Given the description of an element on the screen output the (x, y) to click on. 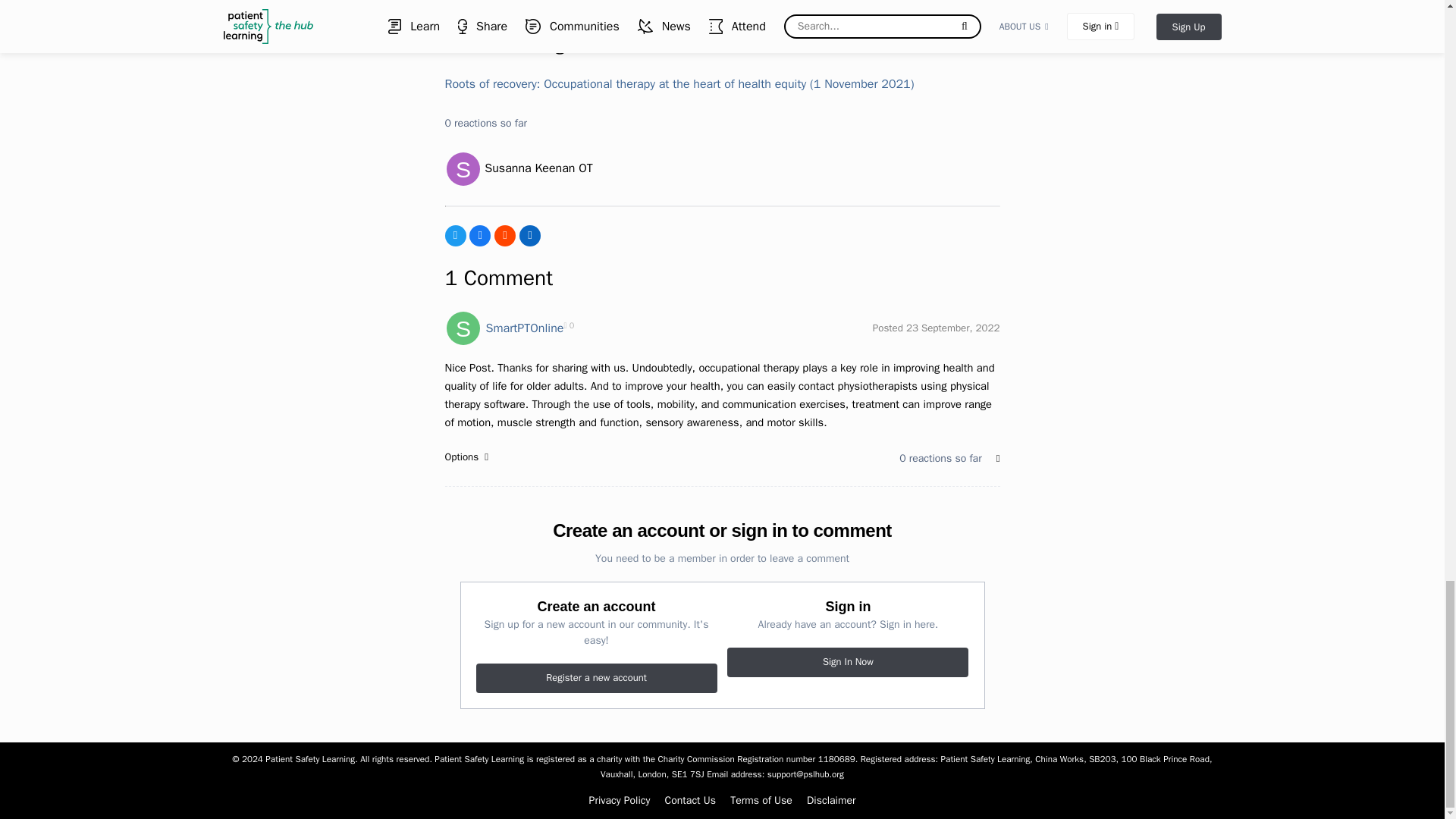
Share on Facebook (479, 235)
Share on Reddit (505, 235)
Share on Twitter (454, 235)
Go to Susanna Keenan OT's profile (462, 168)
